Given the description of an element on the screen output the (x, y) to click on. 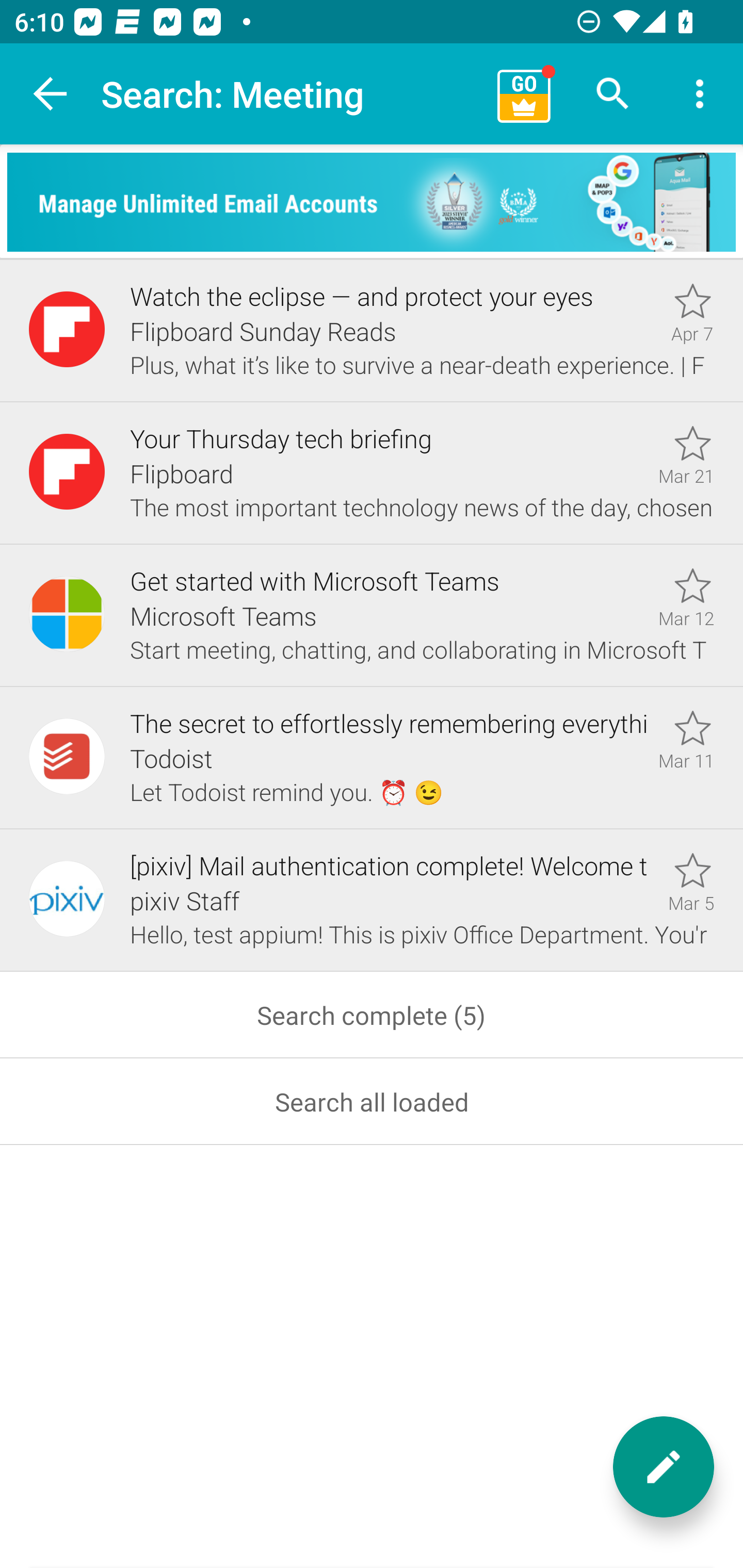
Navigate up (50, 93)
Search (612, 93)
More options (699, 93)
Search complete (5) (371, 1015)
Search all loaded (371, 1101)
New message (663, 1466)
